Given the description of an element on the screen output the (x, y) to click on. 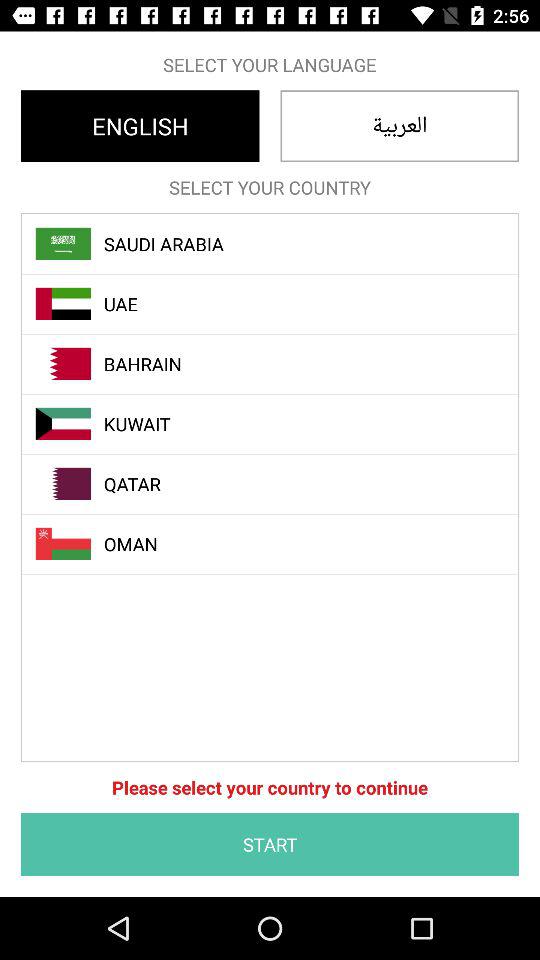
turn off the icon above the please select your icon (281, 543)
